Given the description of an element on the screen output the (x, y) to click on. 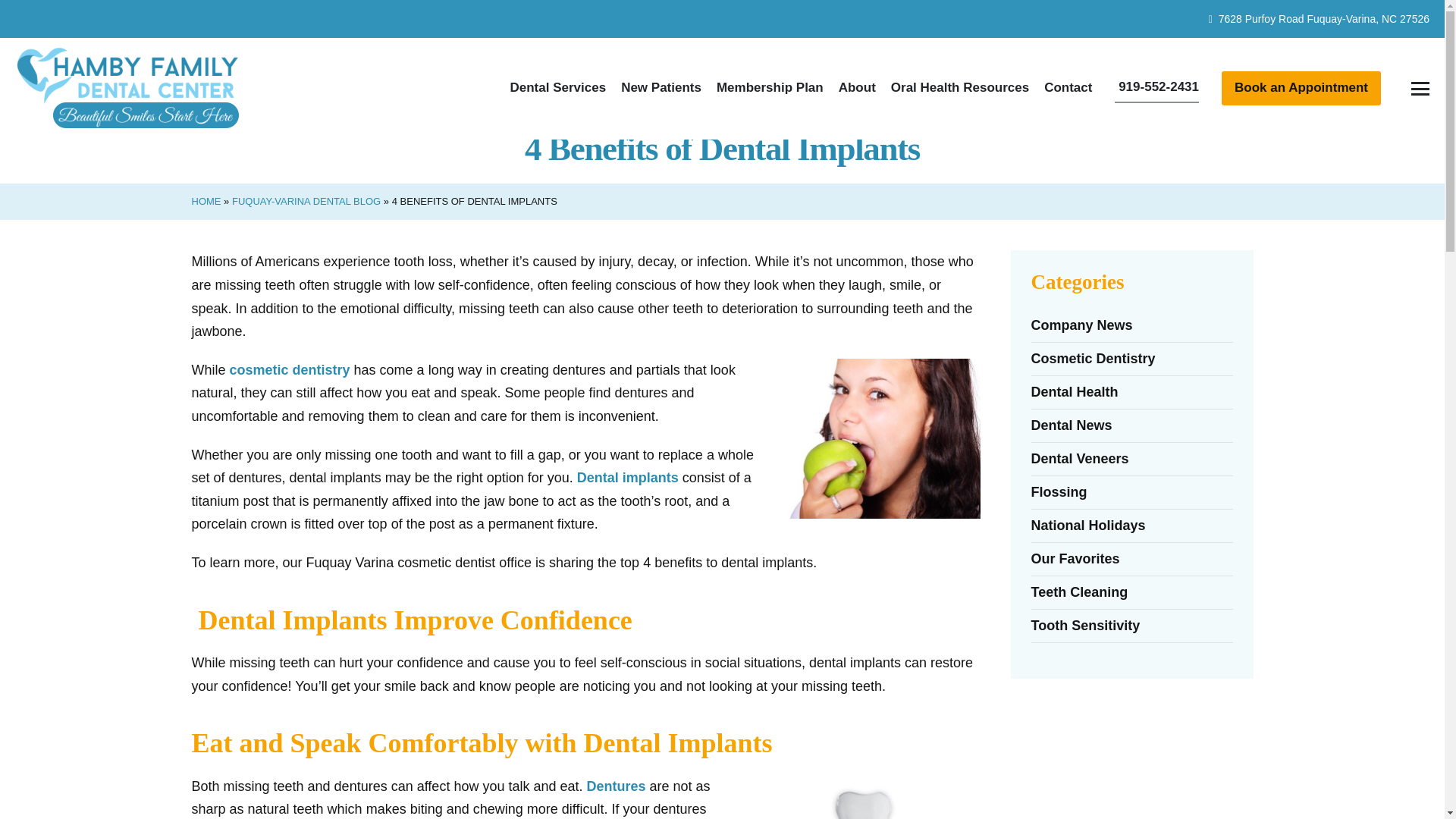
Membership Plan (770, 88)
Oral Health Resources (960, 88)
Dental Services (557, 88)
Fuquay Varina Dentists - Hamby Family Dental Center (128, 88)
  7628 Purfoy Road Fuquay-Varina, NC 27526 (1318, 19)
Book an Appointment (1300, 88)
New Patients (661, 88)
 919-552-2431 (1156, 88)
